Given the description of an element on the screen output the (x, y) to click on. 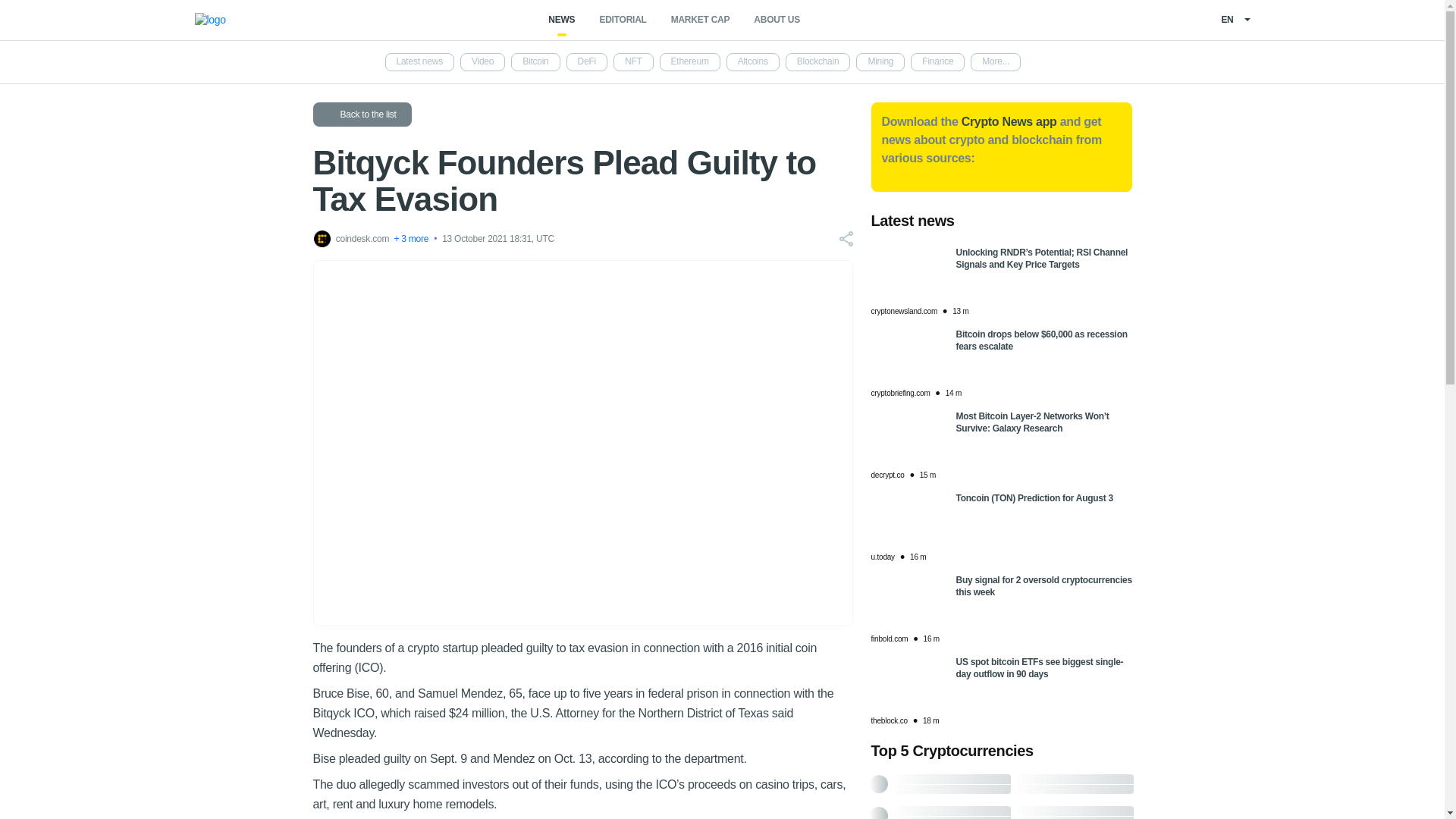
MARKET CAP (700, 19)
Ethereum (689, 62)
Bitcoin (535, 62)
Video (482, 62)
Altcoins (752, 62)
Blockchain (818, 62)
Finance (937, 62)
ABOUT US (776, 19)
NEWS (560, 19)
NFT (632, 62)
Mining (880, 62)
DeFi (586, 62)
Latest news (419, 62)
EDITORIAL (622, 19)
